Given the description of an element on the screen output the (x, y) to click on. 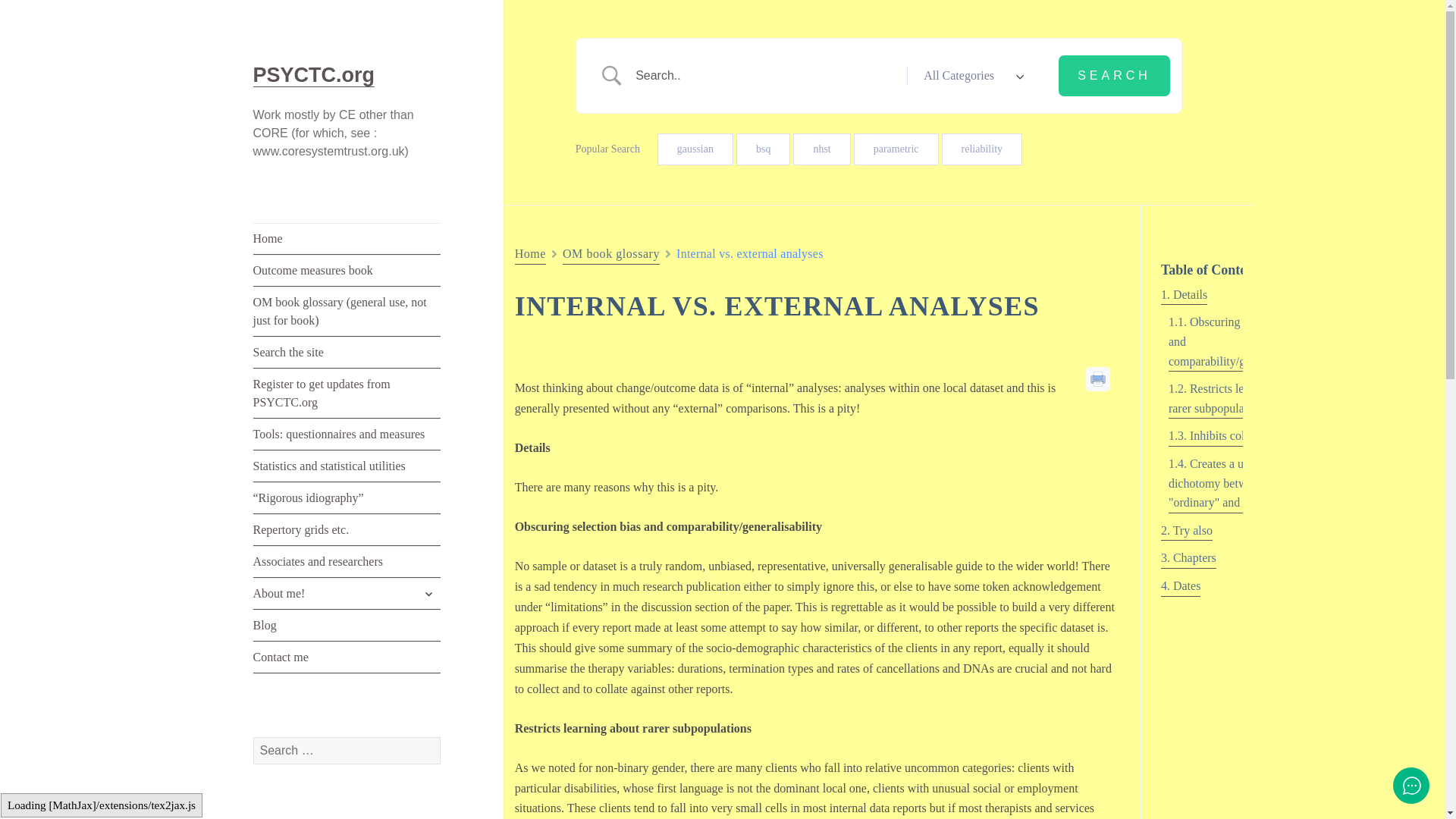
expand child menu (428, 593)
About me! (347, 593)
Search the site (347, 352)
Tools: questionnaires and measures (347, 434)
Blog (347, 625)
OM book glossary (610, 253)
Search (1114, 75)
Statistics and statistical utilities (347, 466)
